Given the description of an element on the screen output the (x, y) to click on. 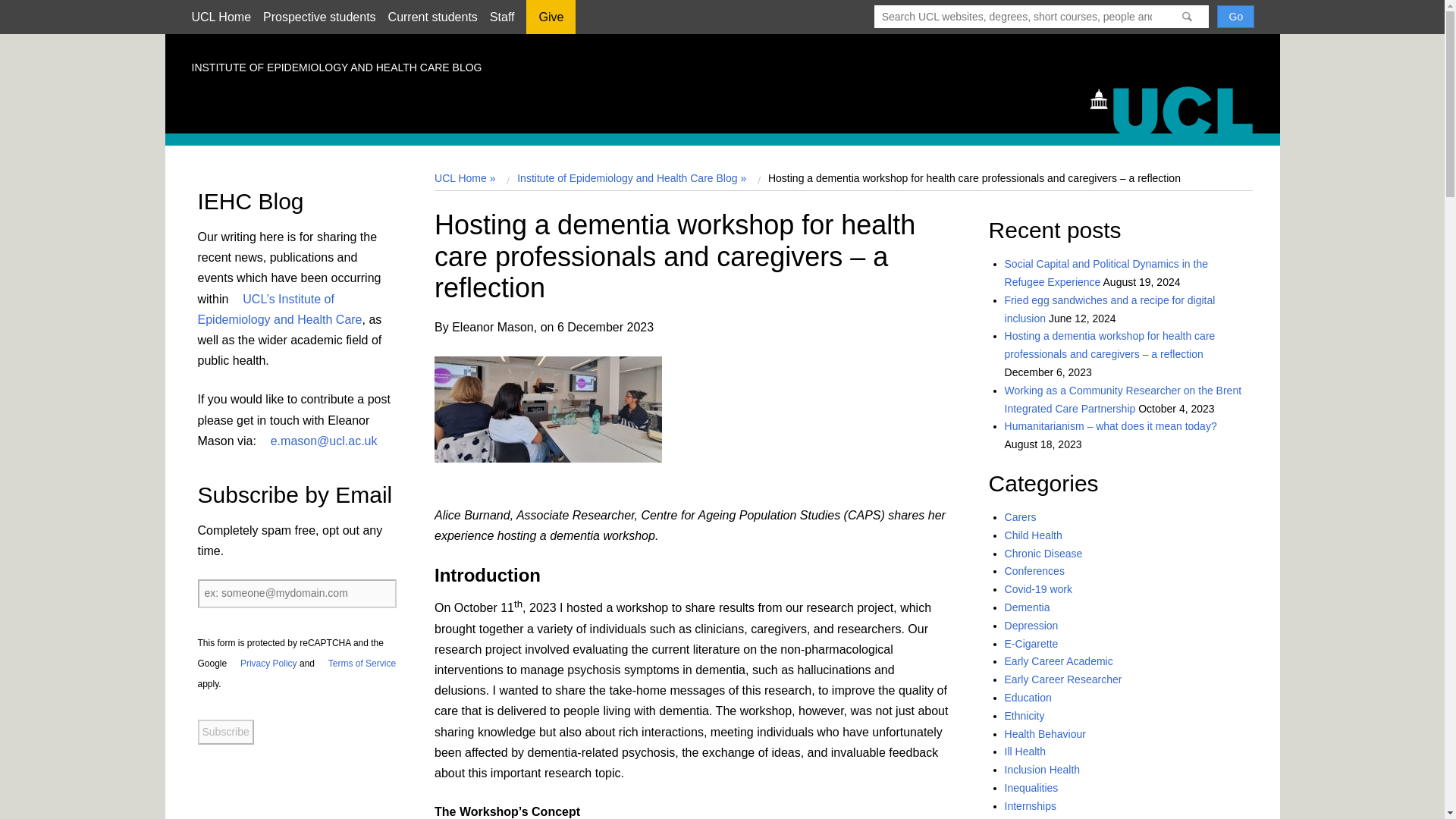
Go (1235, 15)
Health Behaviour (1045, 734)
Current students (432, 16)
Early Career Researcher (1063, 679)
Chronic Disease (1043, 553)
Subscribe (224, 732)
Prospective students (319, 16)
Go (1235, 15)
Depression (1031, 625)
